Given the description of an element on the screen output the (x, y) to click on. 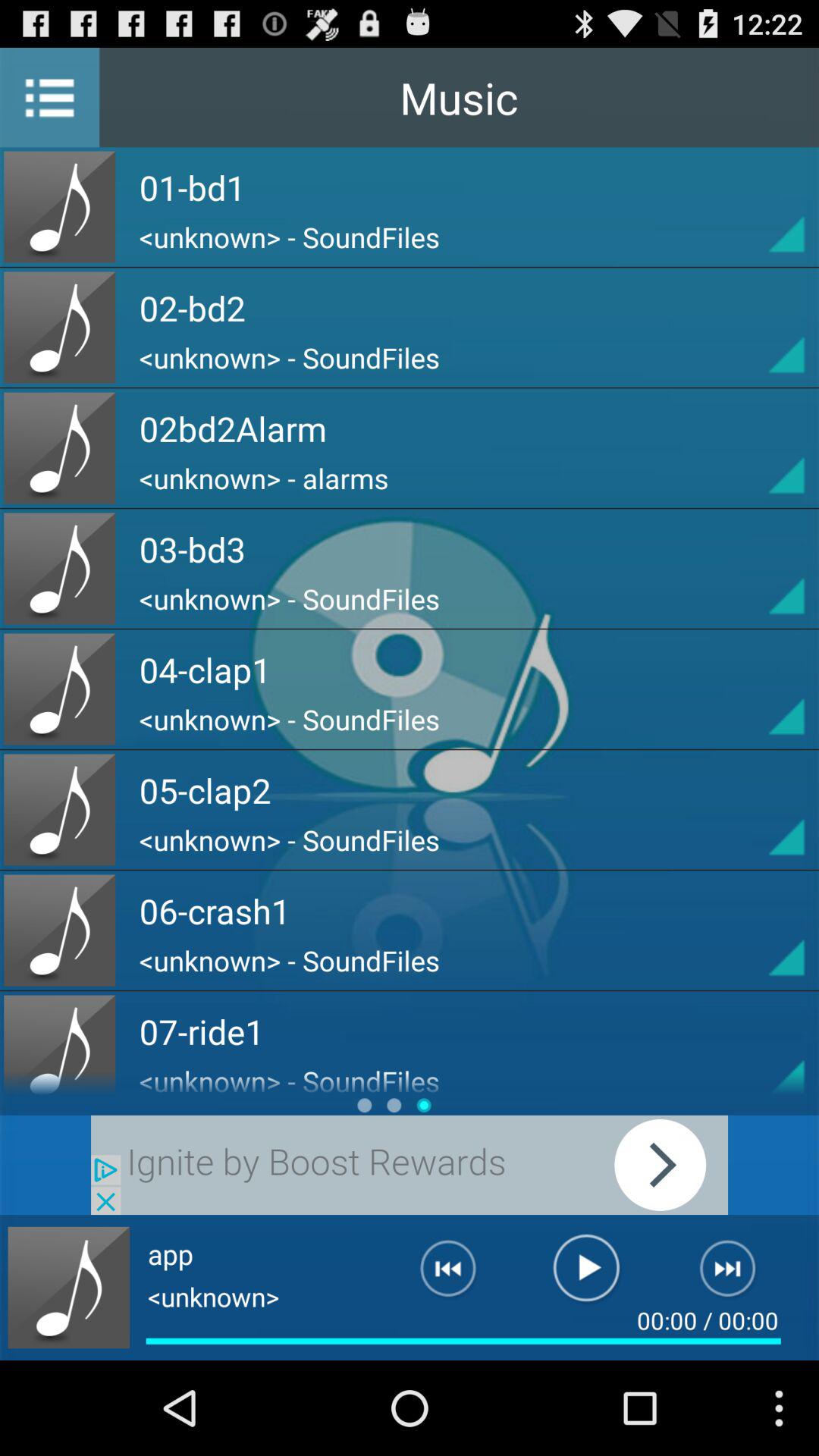
play this audio (759, 689)
